Given the description of an element on the screen output the (x, y) to click on. 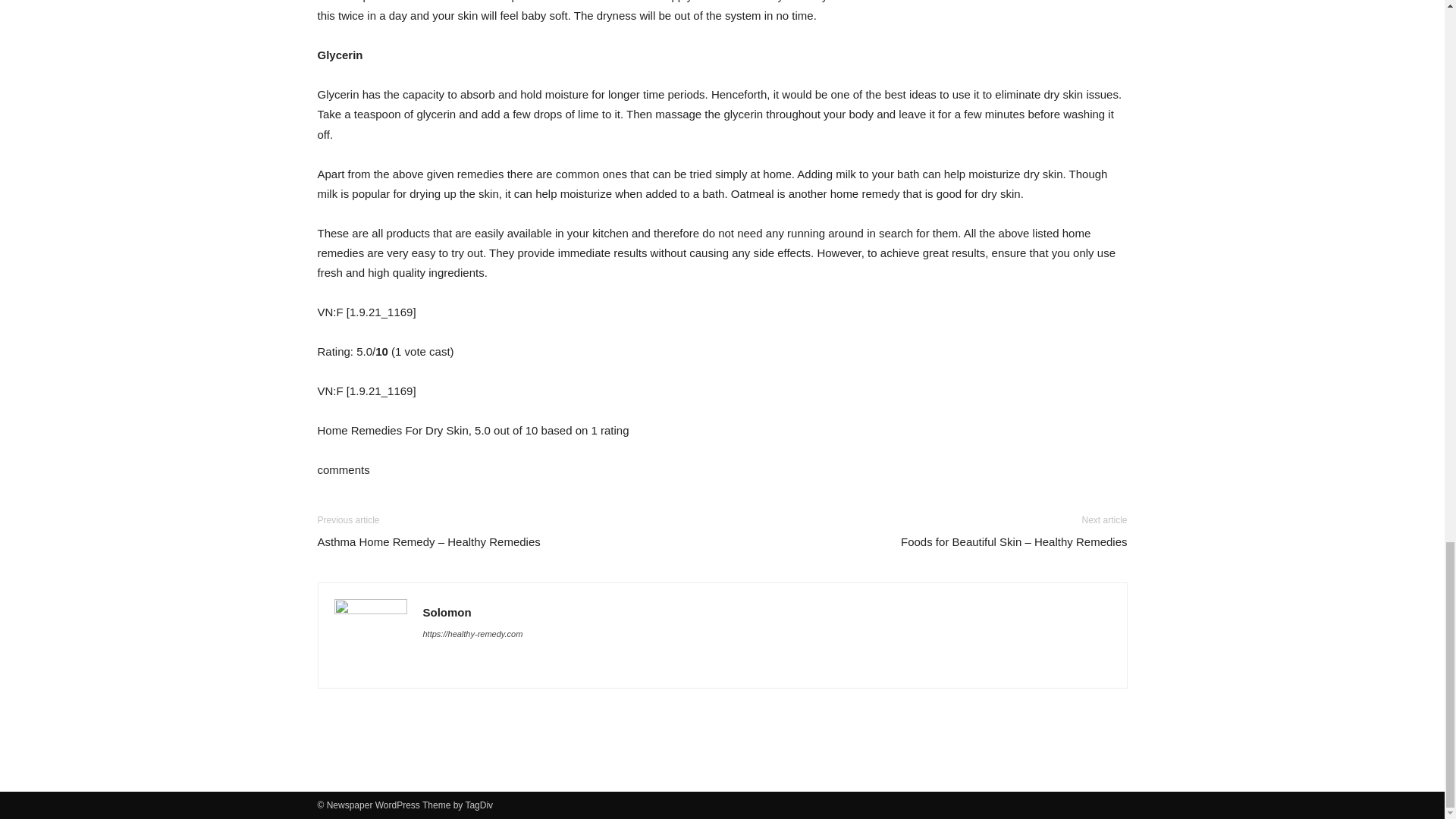
Solomon (447, 612)
